Given the description of an element on the screen output the (x, y) to click on. 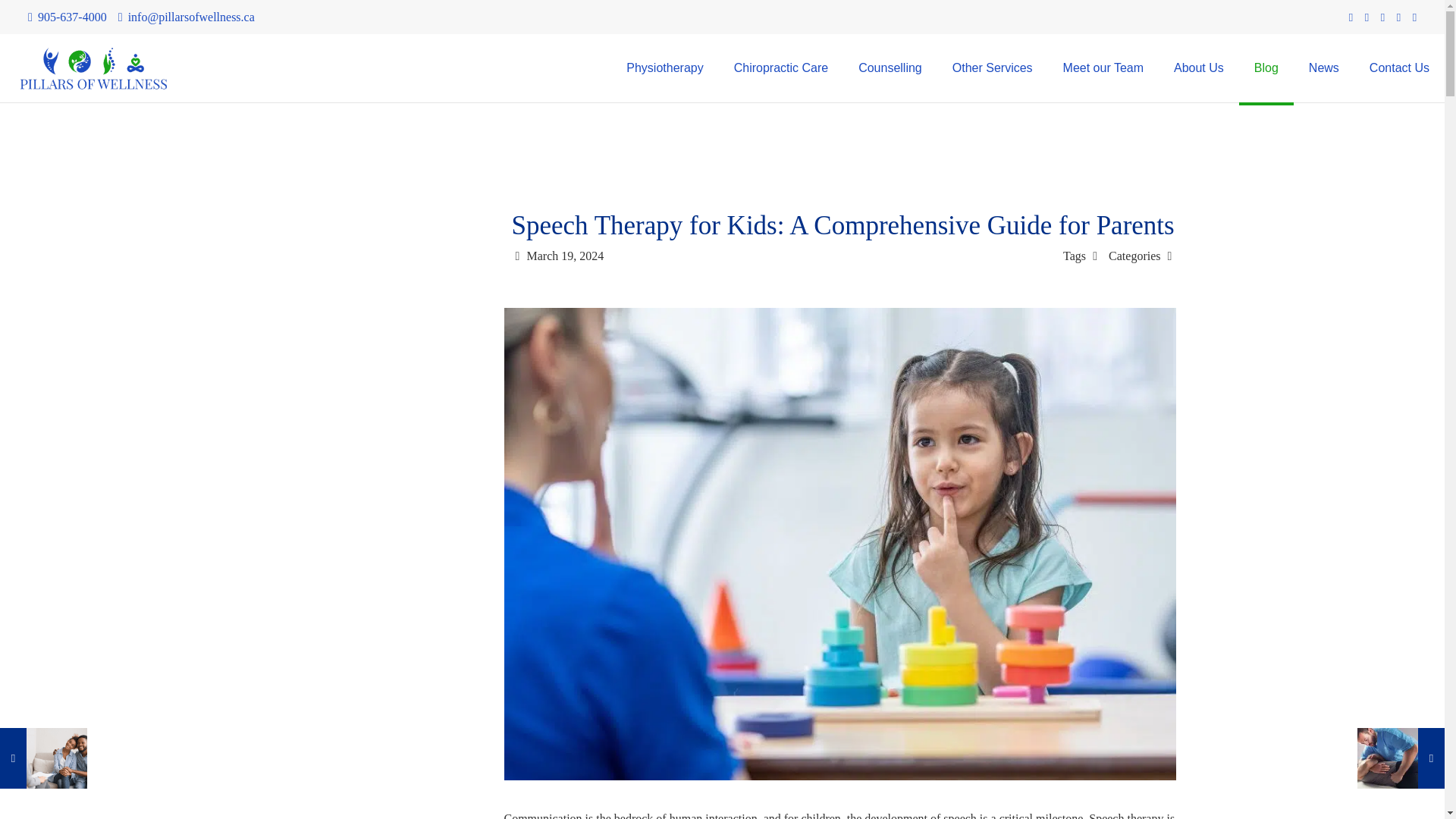
LinkedIn (1399, 17)
Chiropractic Care (781, 68)
YouTube (1383, 17)
Facebook (1350, 17)
Instagram (1415, 17)
905-637-4000 (71, 16)
Burlington Physiotherapy, Chiropractic, Occupational Therapy (92, 68)
Physiotherapy (664, 68)
